Given the description of an element on the screen output the (x, y) to click on. 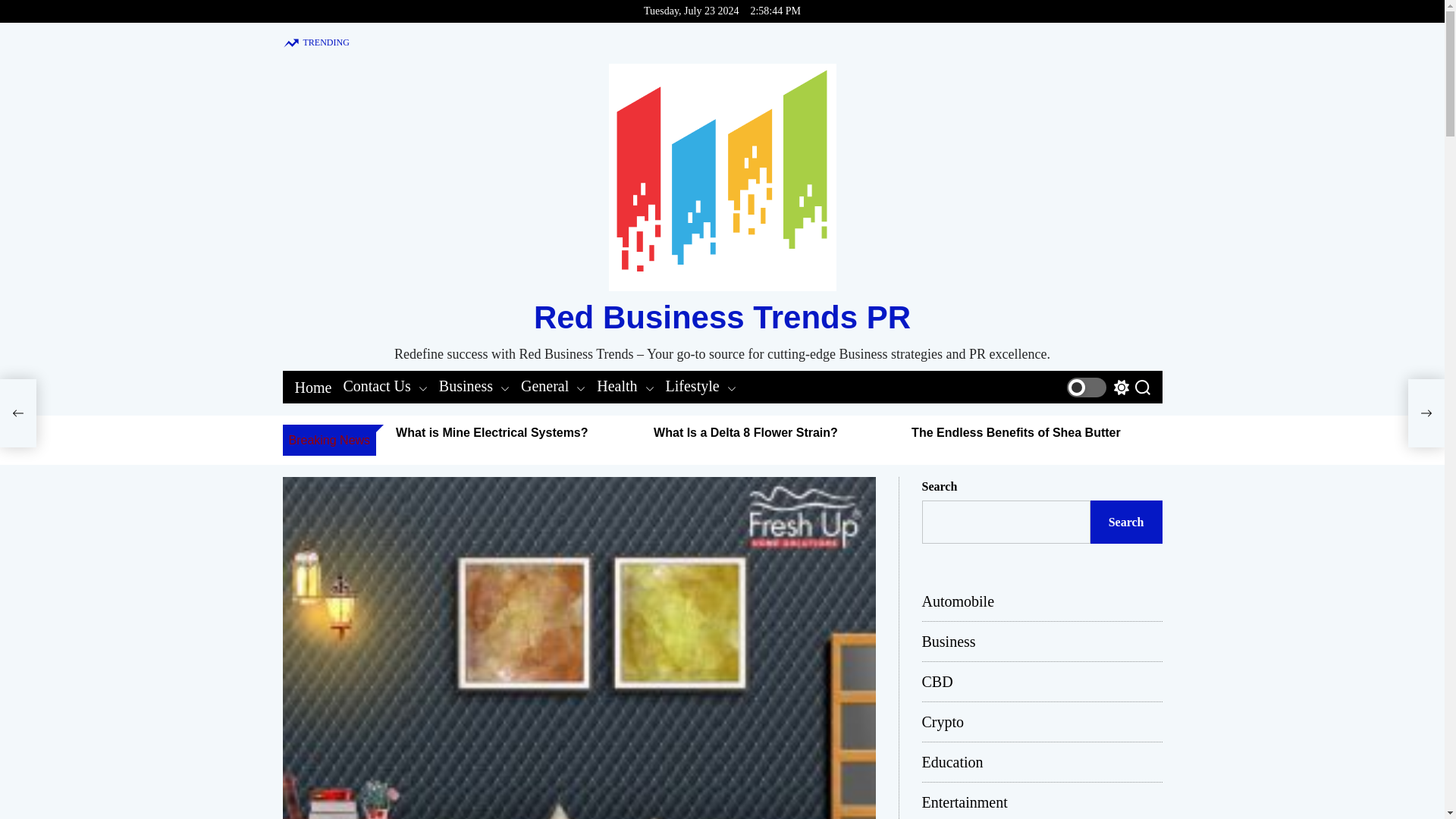
Business (474, 386)
Home (312, 387)
Search (1142, 387)
Lifestyle (700, 386)
The Endless Benefits of Shea Butter (1016, 431)
Red Business Trends PR (721, 317)
Switch color mode (1096, 387)
General (553, 386)
What Is a Delta 8 Flower Strain? (745, 431)
Contact Us (384, 386)
Health (624, 386)
What is Mine Electrical Systems?  (493, 431)
